Given the description of an element on the screen output the (x, y) to click on. 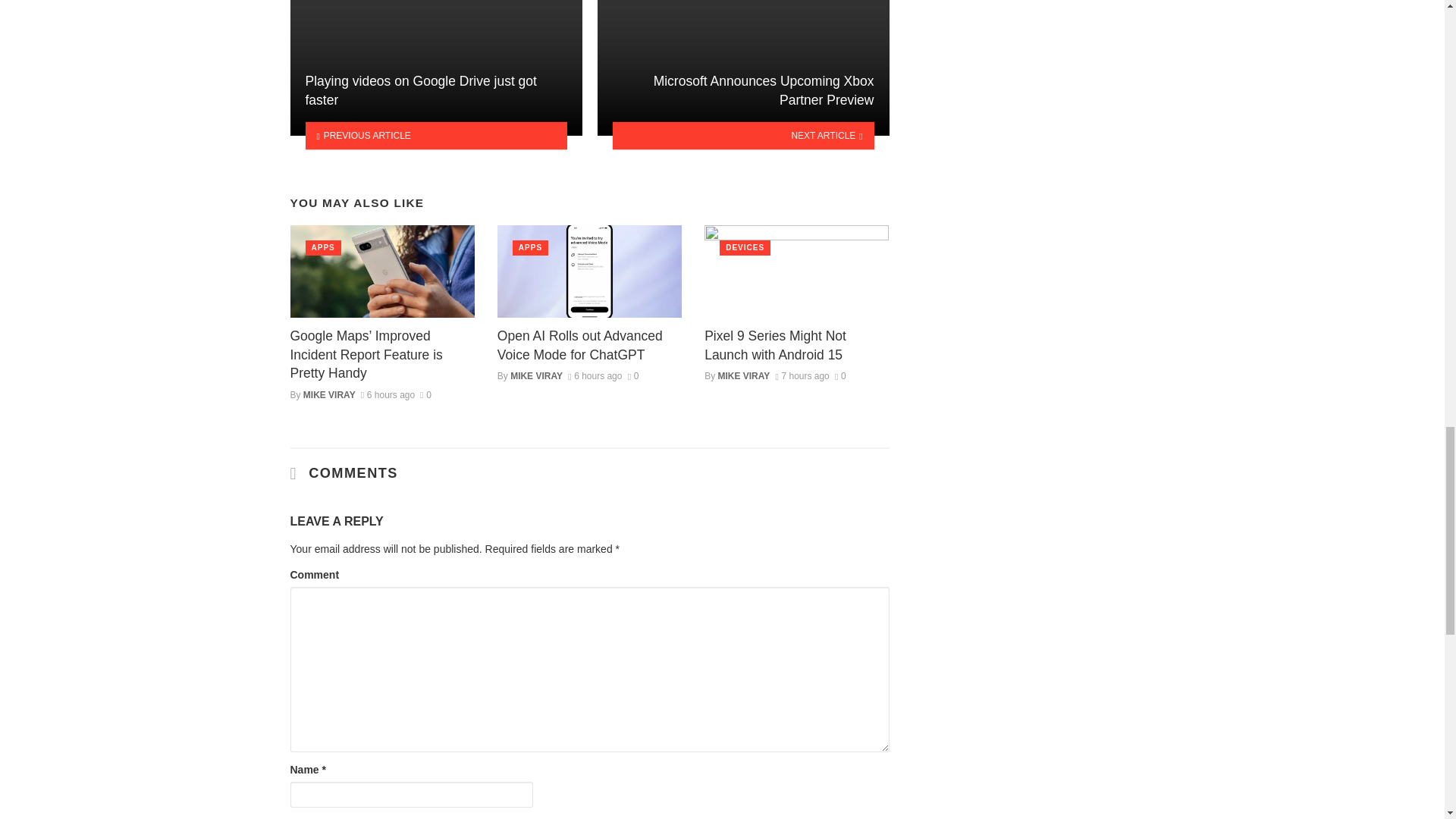
July 31, 2024 at 5:09 pm (594, 376)
0 Comments (839, 376)
0 Comments (633, 376)
0 Comments (425, 394)
July 31, 2024 at 6:03 pm (387, 394)
July 31, 2024 at 4:22 pm (801, 376)
